Given the description of an element on the screen output the (x, y) to click on. 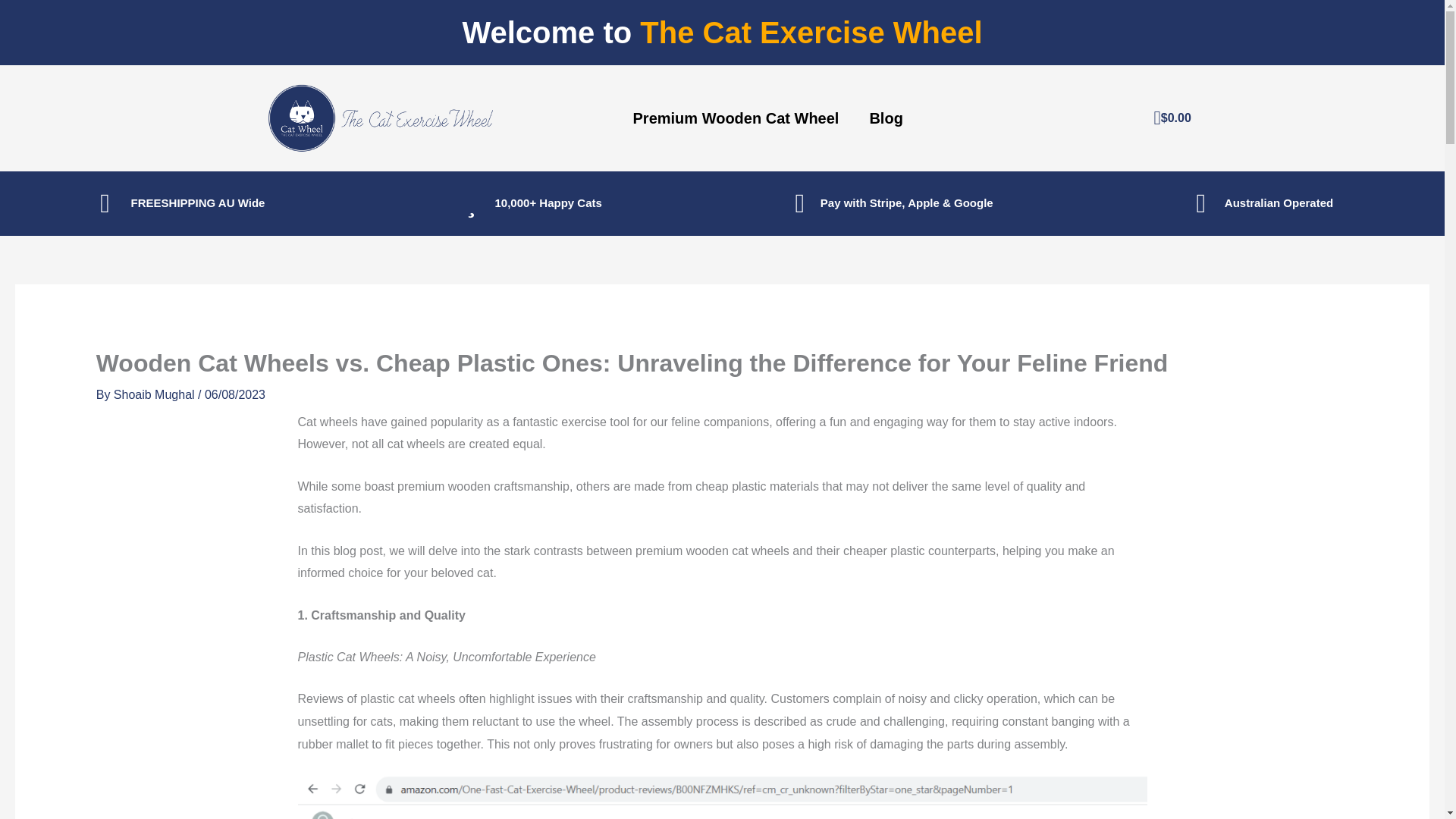
Premium Wooden Cat Wheel (735, 117)
Shoaib Mughal (155, 394)
View all posts by Shoaib Mughal (155, 394)
Blog (885, 117)
